Given the description of an element on the screen output the (x, y) to click on. 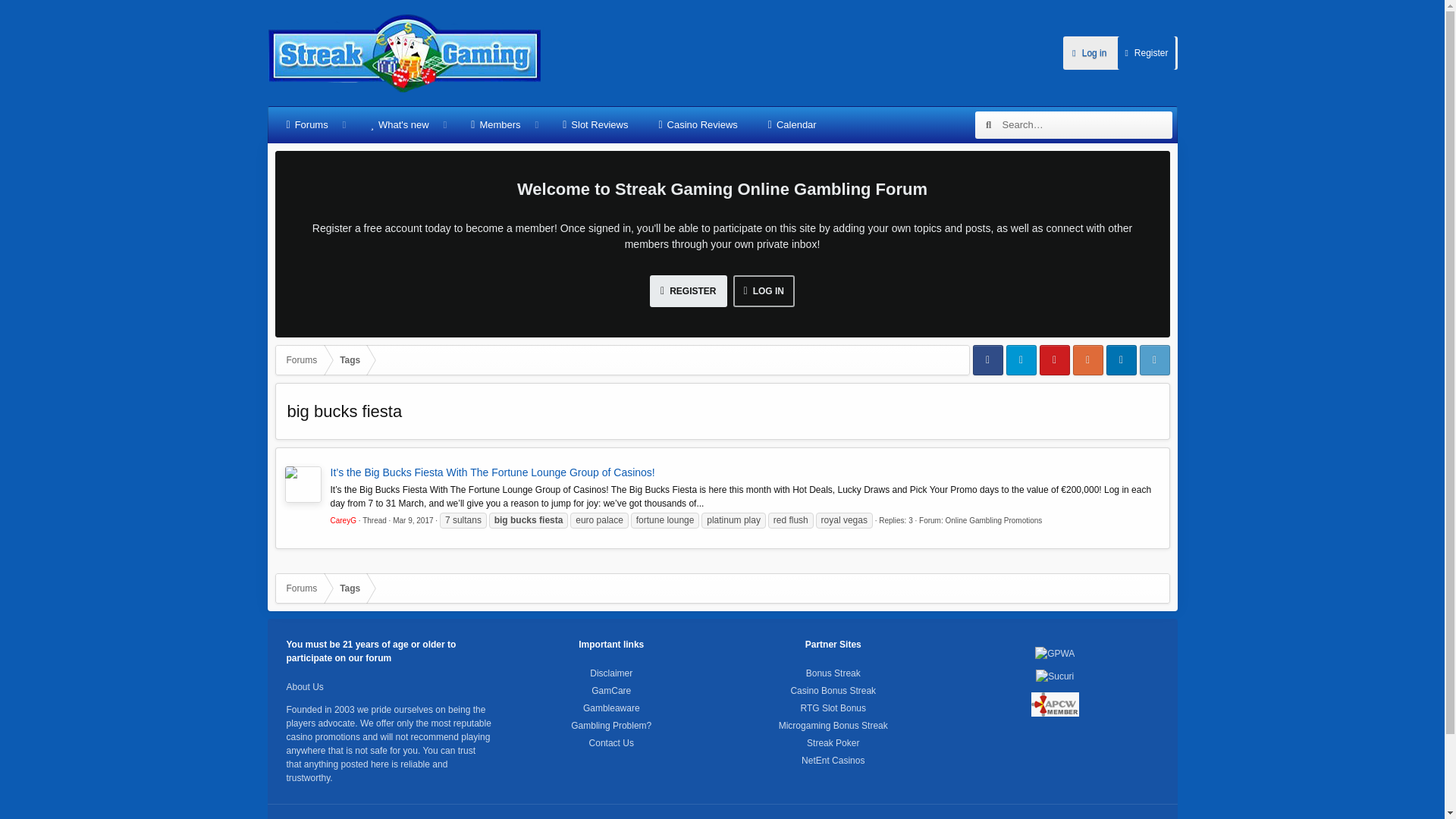
Casino Reviews (697, 125)
What's new (399, 125)
Log in (1088, 52)
Customize (342, 817)
Mar 9, 2017 at 11:53 AM (412, 520)
Members (495, 125)
LOG IN (762, 291)
RSS (1156, 817)
Slot Reviews (595, 125)
REGISTER (687, 291)
Calendar (791, 125)
Style chooser (304, 817)
Forums (306, 125)
